Given the description of an element on the screen output the (x, y) to click on. 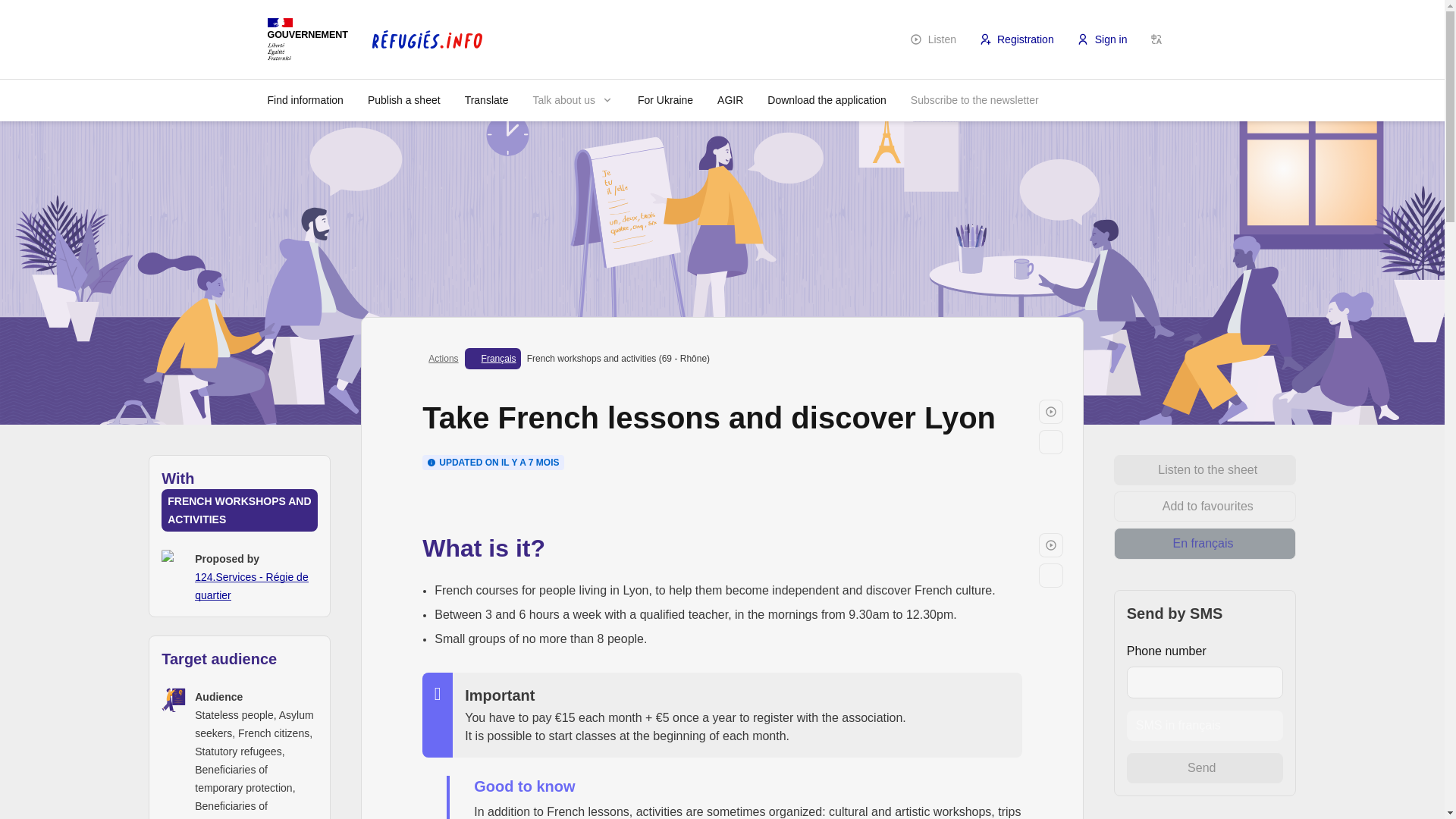
React (1050, 574)
For Ukraine (665, 99)
Actions (443, 357)
Publish a sheet (403, 99)
Listen (1050, 410)
AGIR (729, 99)
Find information (304, 99)
Sign in (1102, 39)
GOUVERNEMENT (306, 38)
Registration (1016, 39)
